Given the description of an element on the screen output the (x, y) to click on. 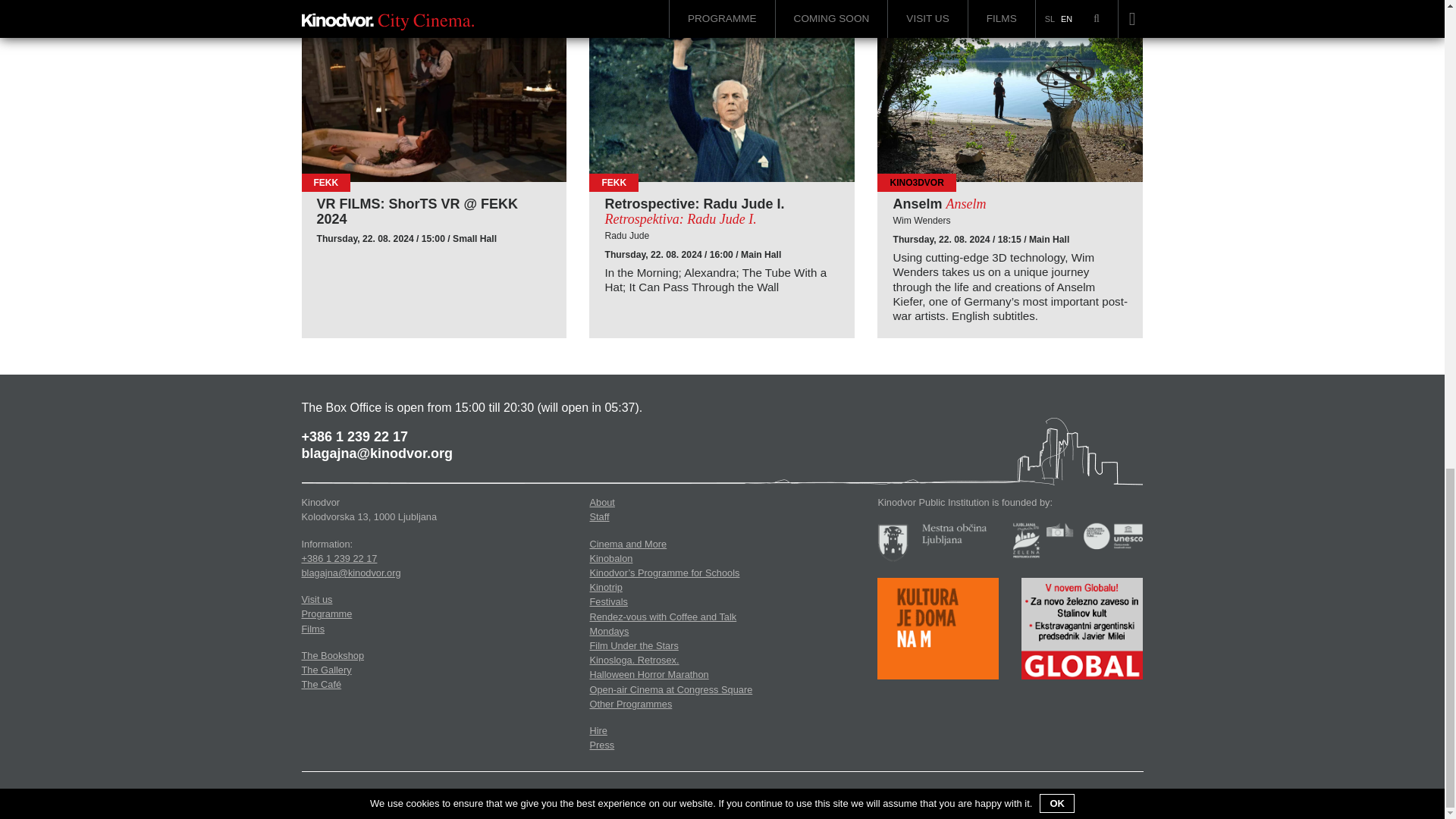
Anselm (1009, 106)
Retrospective: Radu Jude I. (721, 106)
Retrospective: Radu Jude I. (722, 212)
Anselm (1009, 204)
